Given the description of an element on the screen output the (x, y) to click on. 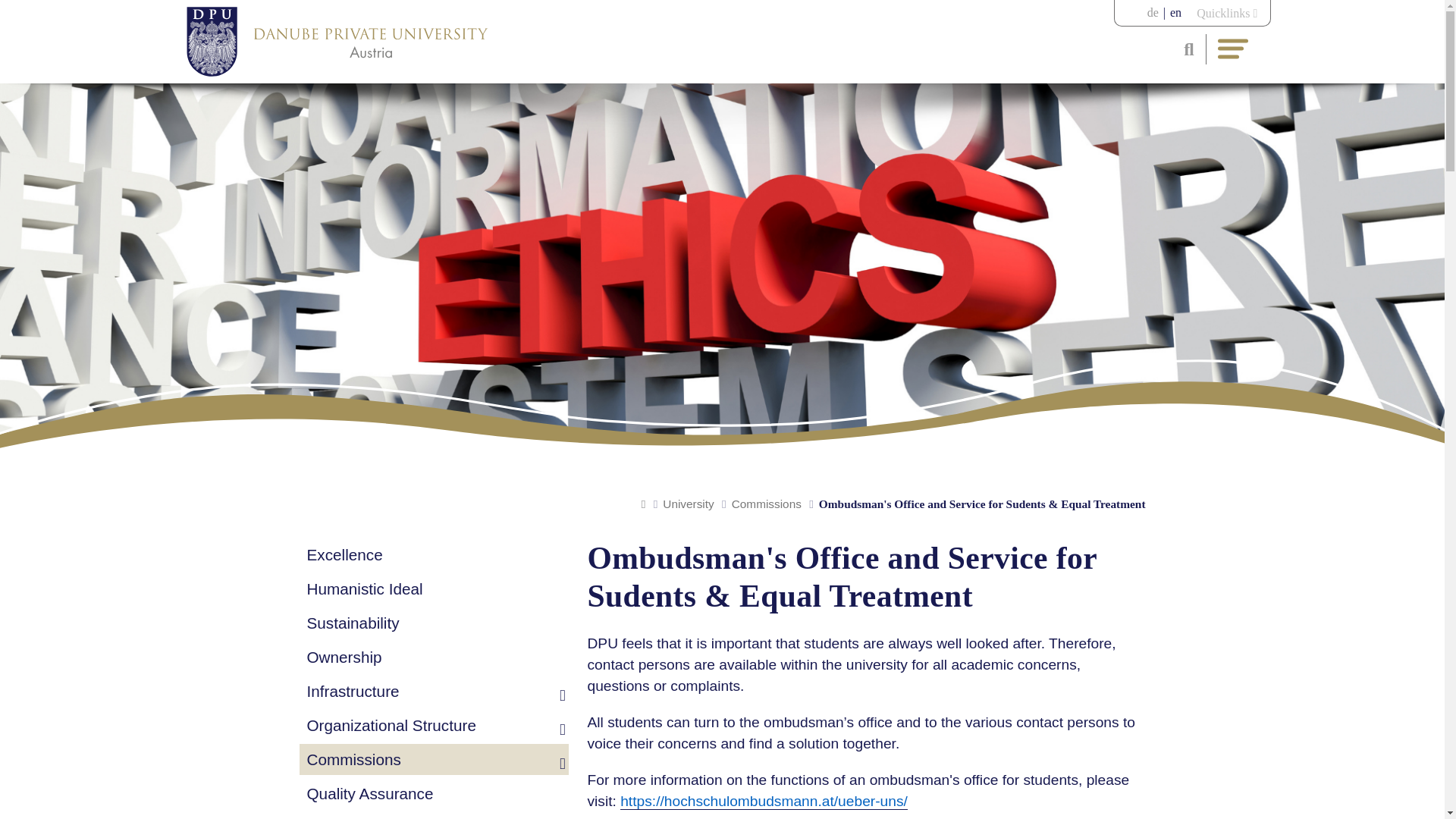
de (1152, 12)
english (1175, 12)
en (1175, 12)
search (1180, 48)
deutsch (1152, 12)
Quicklinks  (1226, 14)
